Given the description of an element on the screen output the (x, y) to click on. 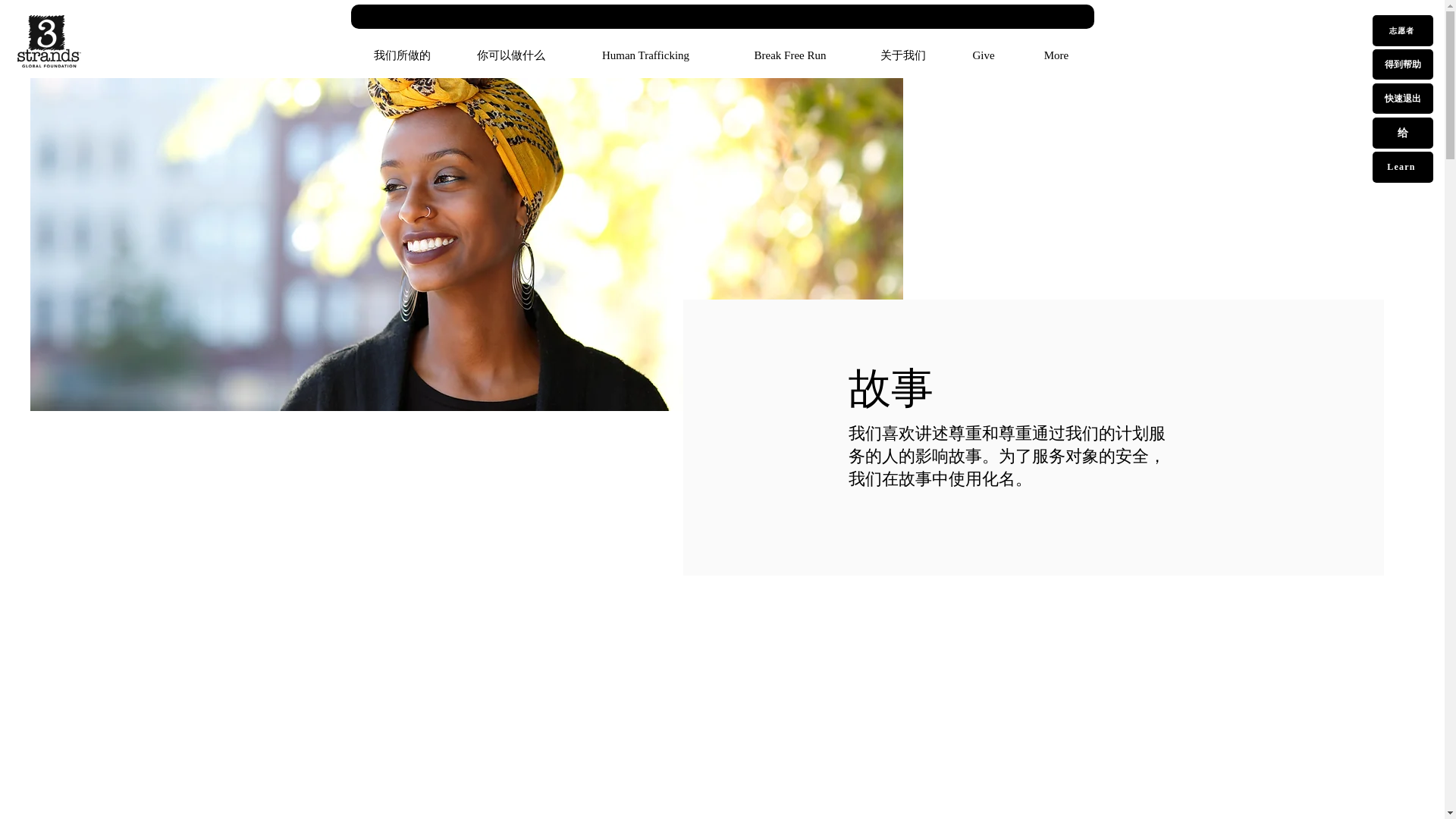
Give (982, 55)
Break Free Run (790, 55)
Learn (1402, 166)
